Given the description of an element on the screen output the (x, y) to click on. 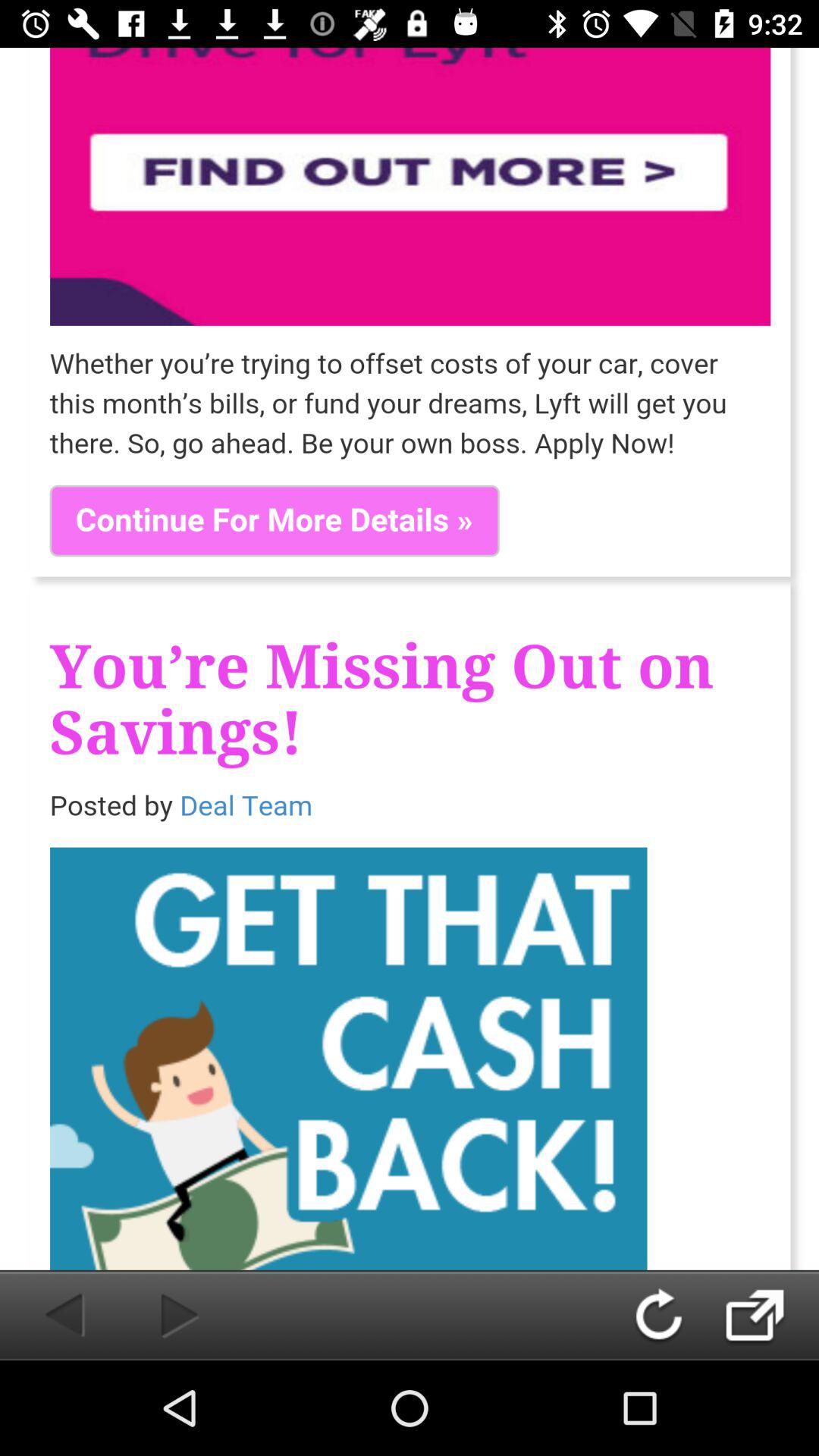
go back (48, 1315)
